Given the description of an element on the screen output the (x, y) to click on. 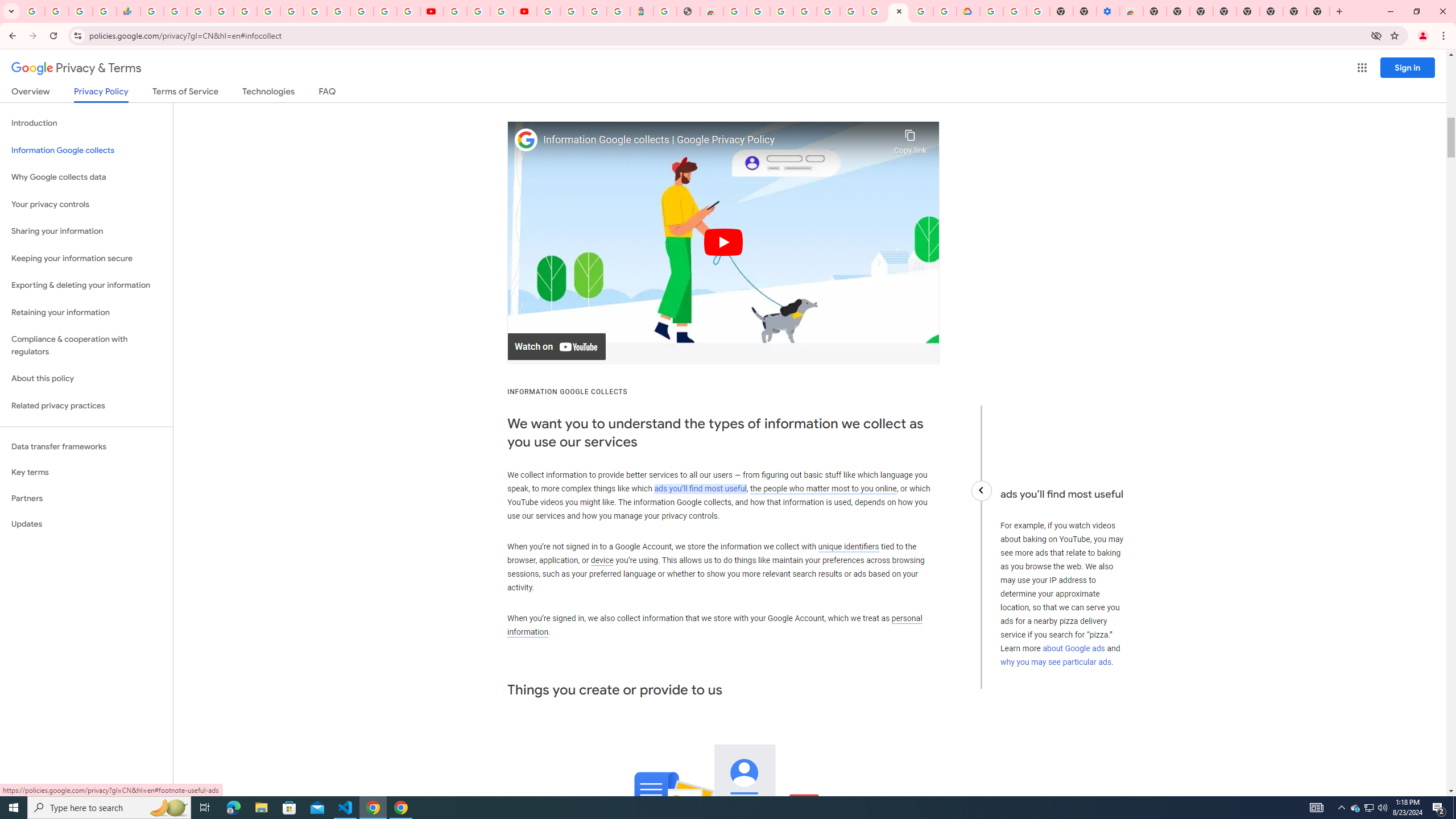
Play (723, 242)
why you may see particular ads (1055, 661)
Sign in - Google Accounts (384, 11)
About this policy (86, 379)
Photo image of Google (526, 139)
Ad Settings (804, 11)
Content Creator Programs & Opportunities - YouTube Creators (524, 11)
Create your Google Account (757, 11)
YouTube (454, 11)
